Given the description of an element on the screen output the (x, y) to click on. 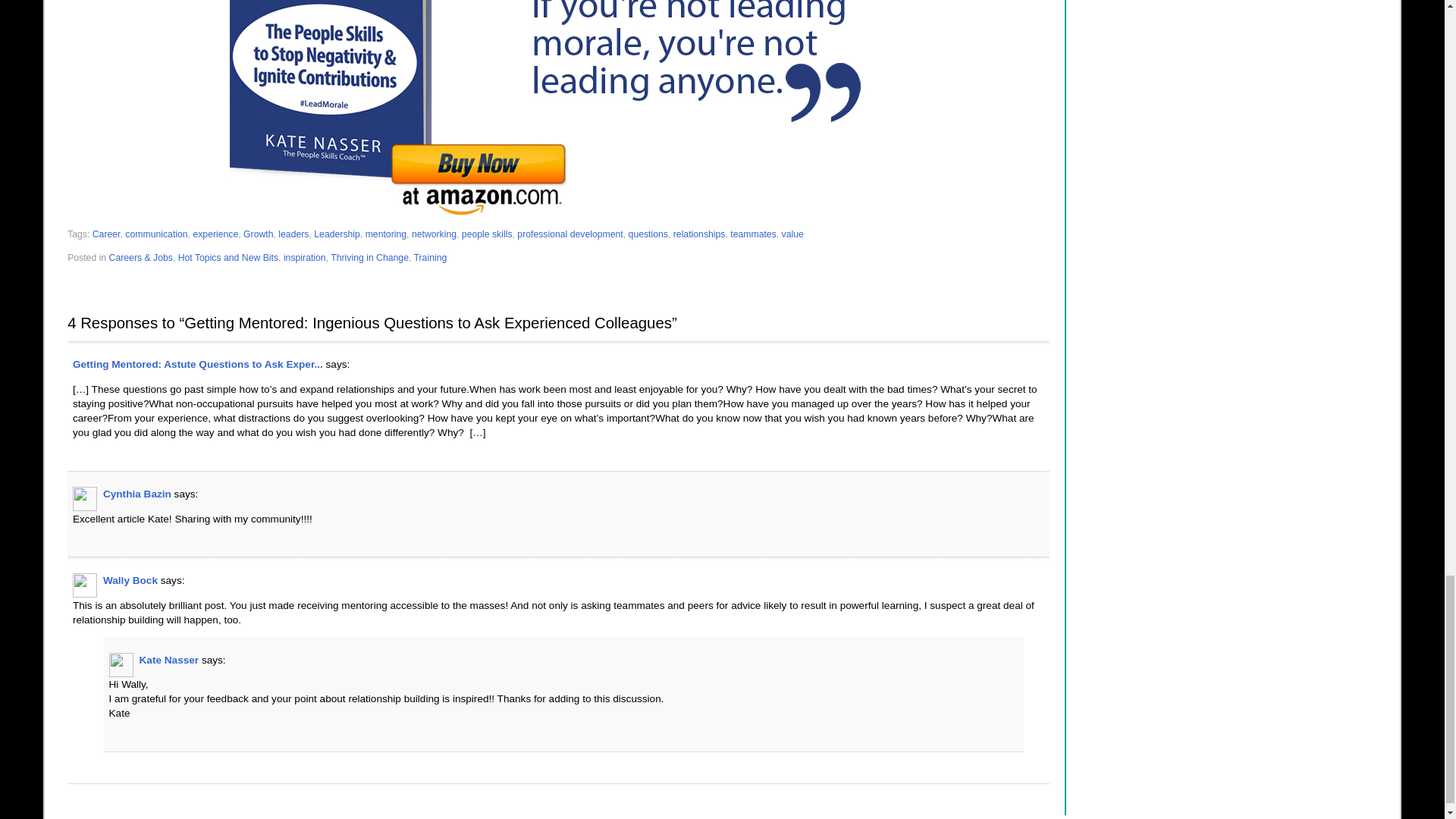
Growth (258, 234)
mentoring (385, 234)
Leadership (336, 234)
experience (215, 234)
networking (434, 234)
Career (106, 234)
communication (156, 234)
leaders (293, 234)
